Given the description of an element on the screen output the (x, y) to click on. 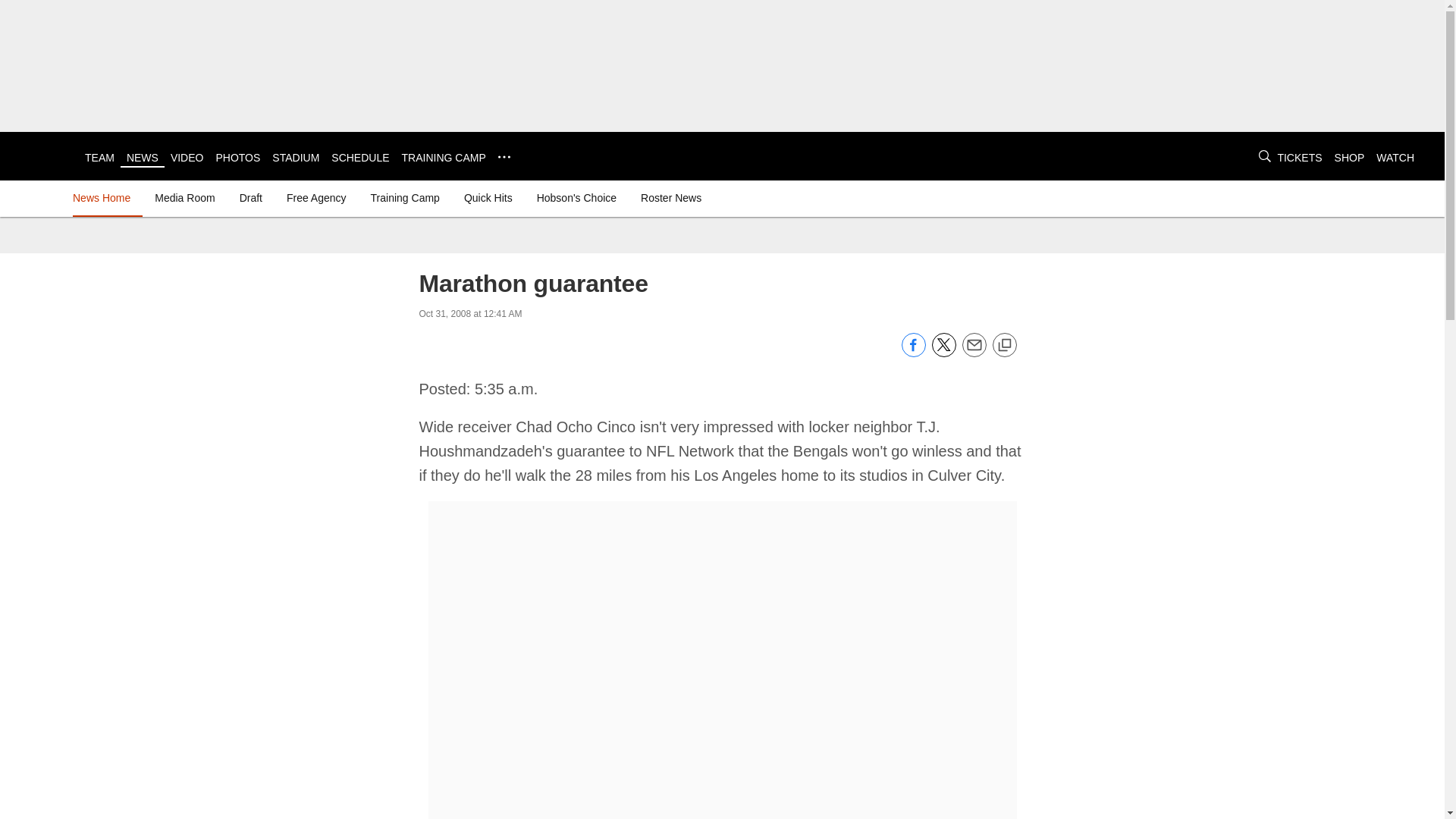
Draft (249, 197)
NEWS (142, 157)
STADIUM (295, 157)
TICKETS (1299, 157)
TRAINING CAMP (443, 157)
TICKETS (1299, 157)
WATCH (1394, 157)
VIDEO (186, 157)
Media Room (184, 197)
TRAINING CAMP (443, 157)
PHOTOS (237, 157)
News Home (104, 197)
NEWS (142, 157)
TEAM (99, 157)
SHOP (1350, 157)
